Given the description of an element on the screen output the (x, y) to click on. 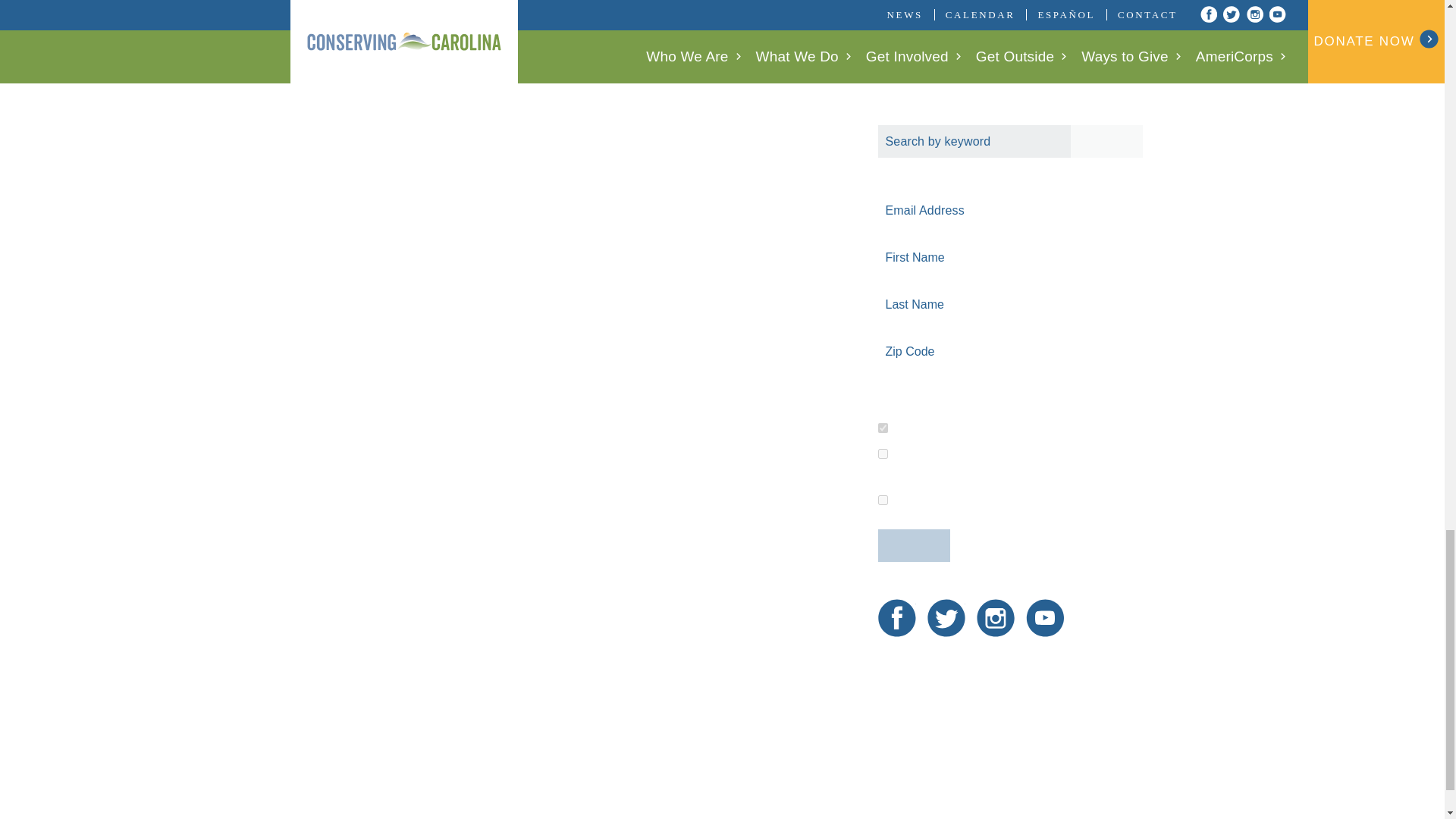
Search (1106, 141)
Visit Conserving Carolina on YouTube (1045, 617)
Search (1106, 141)
c3fd32a0-b885-11e5-855a-d4ae52733d3a (882, 428)
Visit Conserving Carolina on Facebook (896, 617)
ae981700-183f-11e9-858d-d4ae529a848a (882, 500)
Visit Conserving Carolina on Instagram (995, 617)
Visit Conserving Carolina on Twitter (946, 617)
Search for: (1009, 141)
bf404fa0-183f-11e9-858d-d4ae529a848a (882, 453)
